Given the description of an element on the screen output the (x, y) to click on. 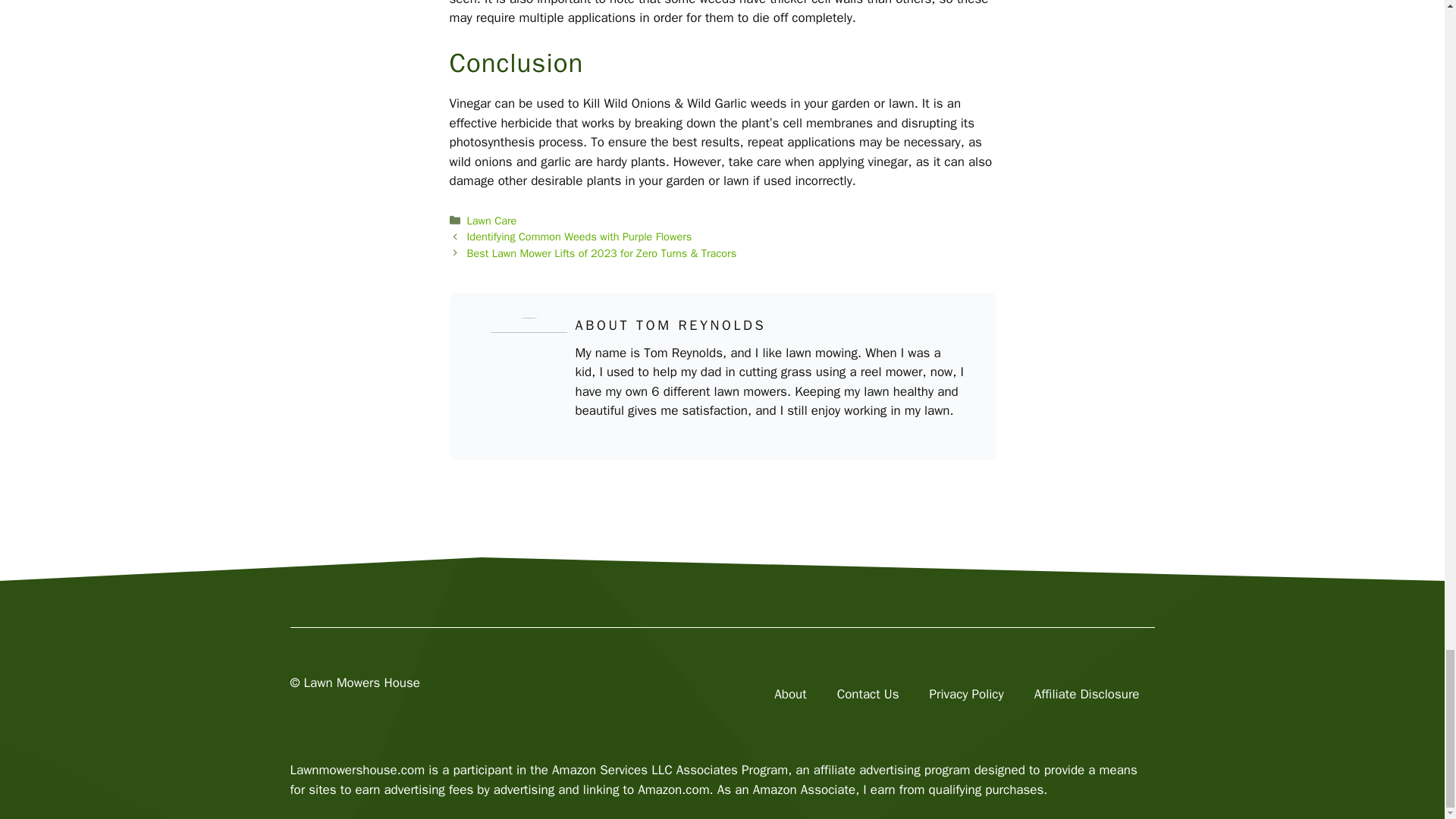
Lawn Care (491, 220)
Privacy Policy (966, 694)
Affiliate Disclosure (1086, 694)
Identifying Common Weeds with Purple Flowers (580, 236)
About (789, 694)
Contact Us (868, 694)
